Given the description of an element on the screen output the (x, y) to click on. 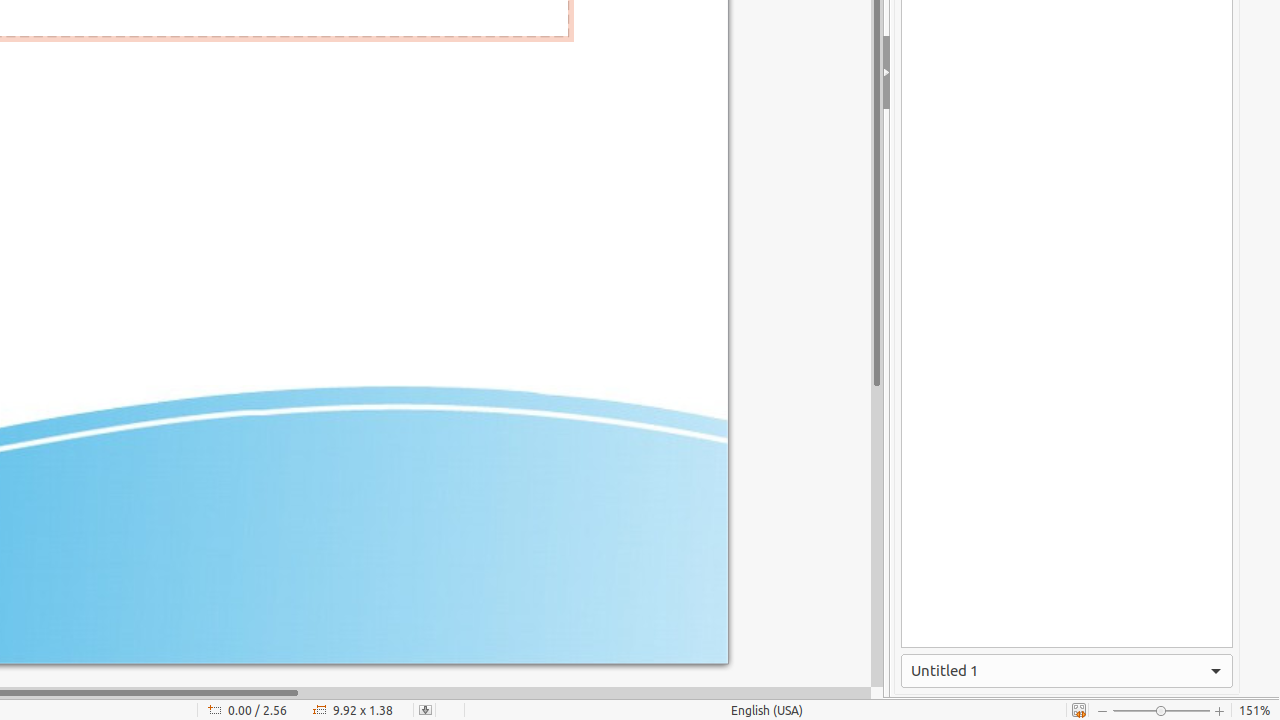
Active Window Element type: combo-box (1067, 671)
